Given the description of an element on the screen output the (x, y) to click on. 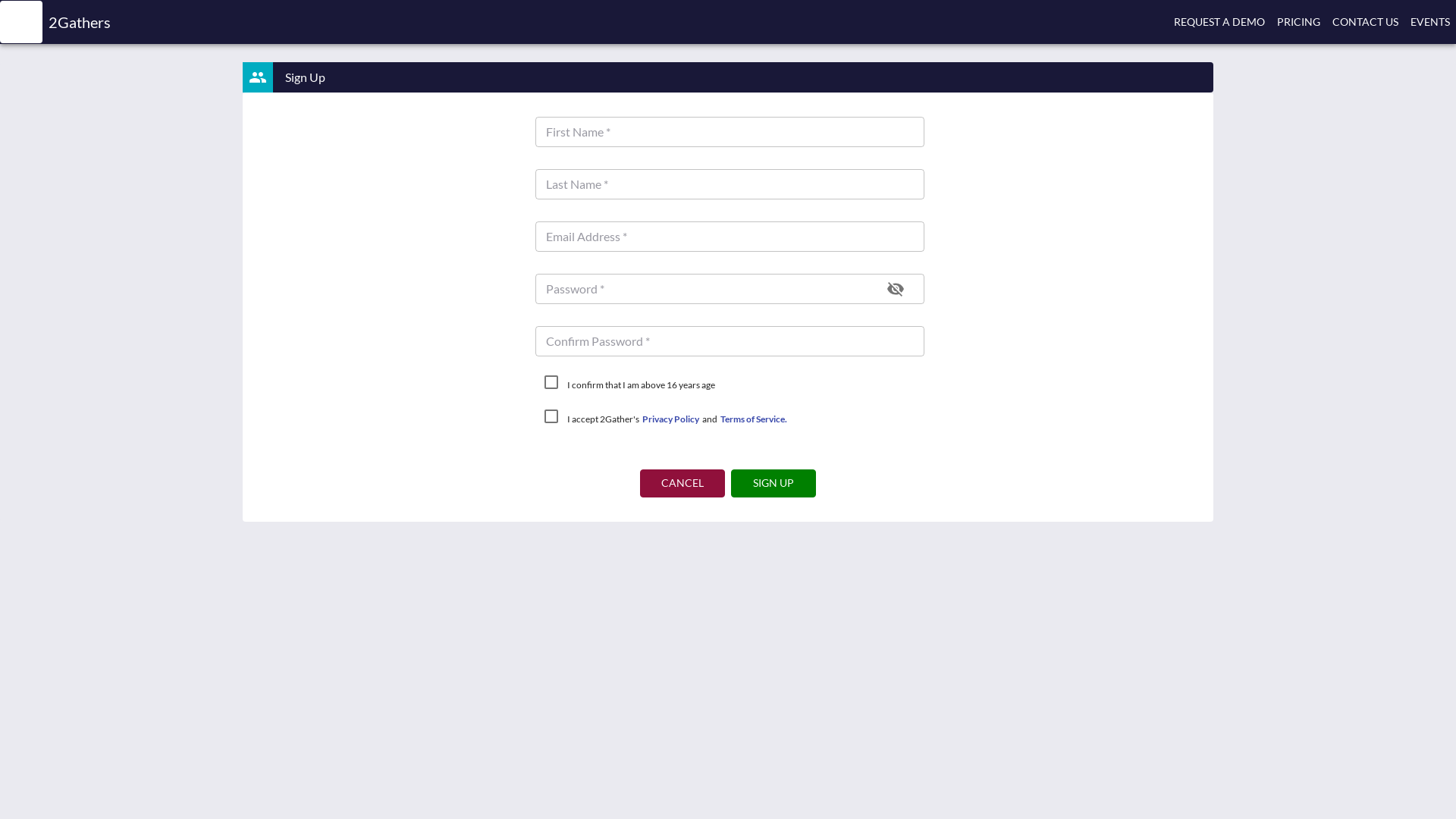
Terms of Service. Element type: text (753, 418)
SIGN UP Element type: text (773, 483)
Privacy Policy Element type: text (670, 418)
CANCEL Element type: text (682, 483)
